Given the description of an element on the screen output the (x, y) to click on. 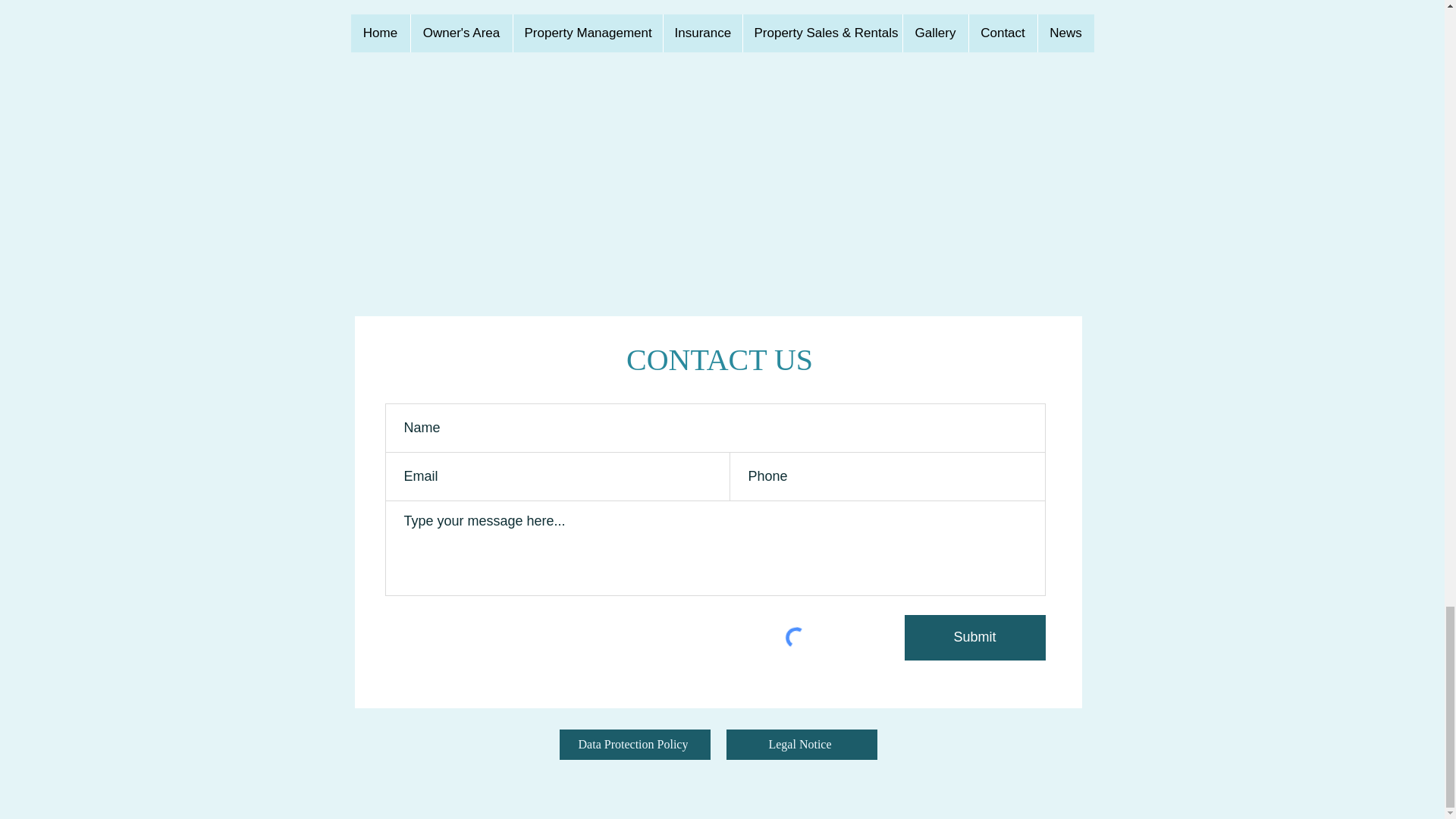
Submit (974, 637)
Data Protection Policy (634, 744)
Legal Notice (801, 744)
